Given the description of an element on the screen output the (x, y) to click on. 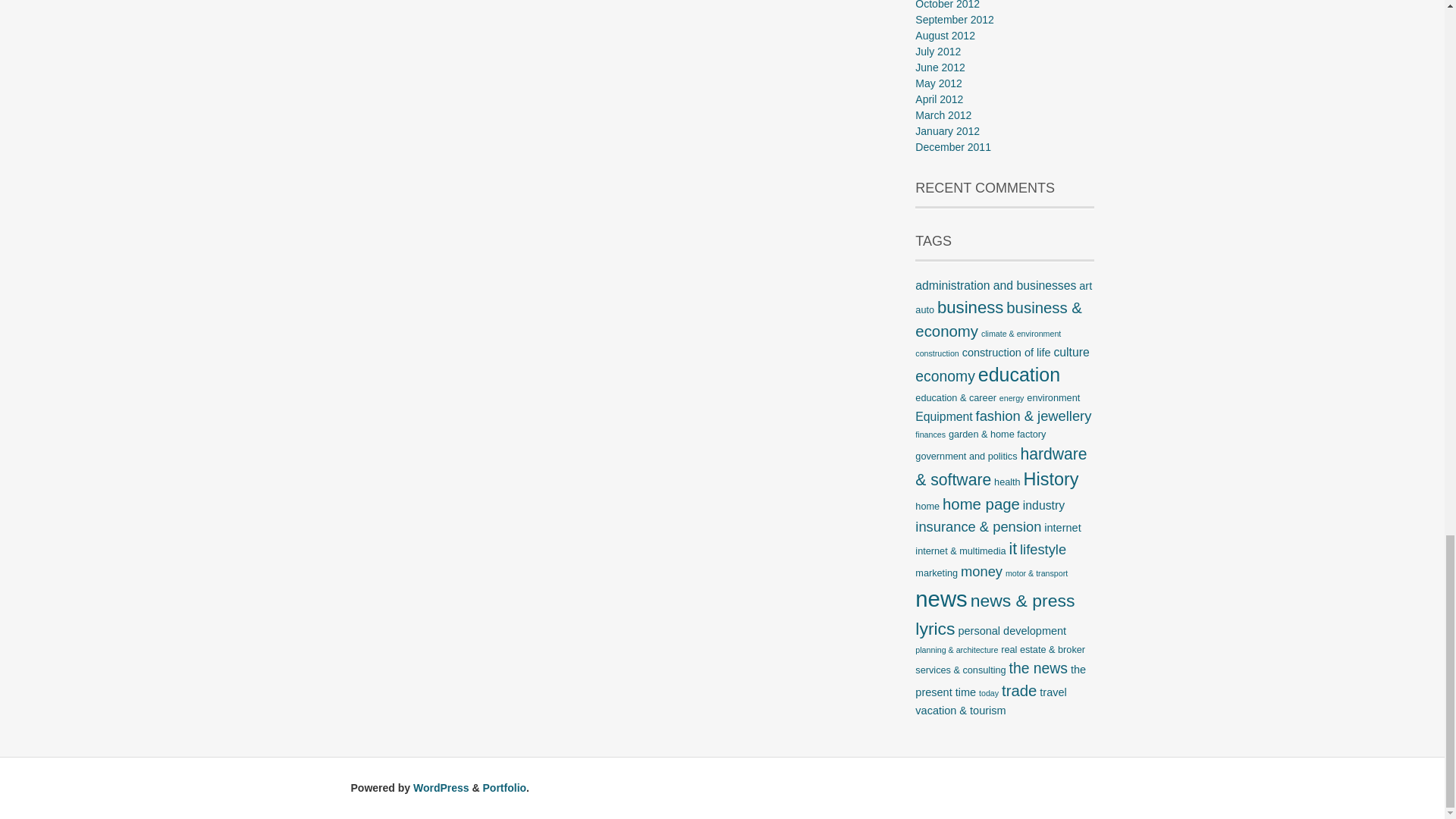
A Semantic Personal Publishing Platform (440, 787)
